Given the description of an element on the screen output the (x, y) to click on. 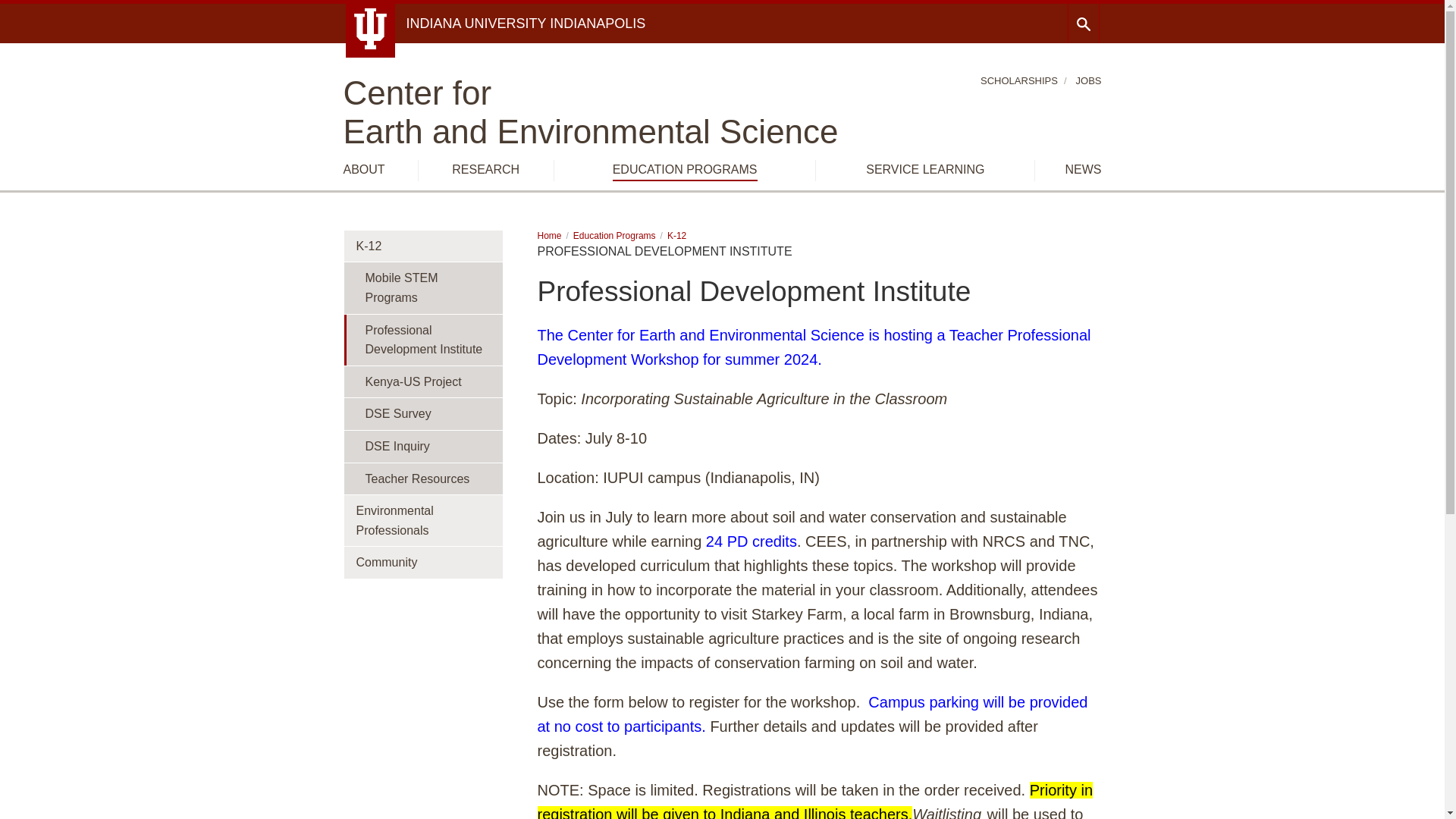
Indiana University Indianapolis (526, 23)
INDIANA UNIVERSITY INDIANAPOLIS (526, 23)
